Given the description of an element on the screen output the (x, y) to click on. 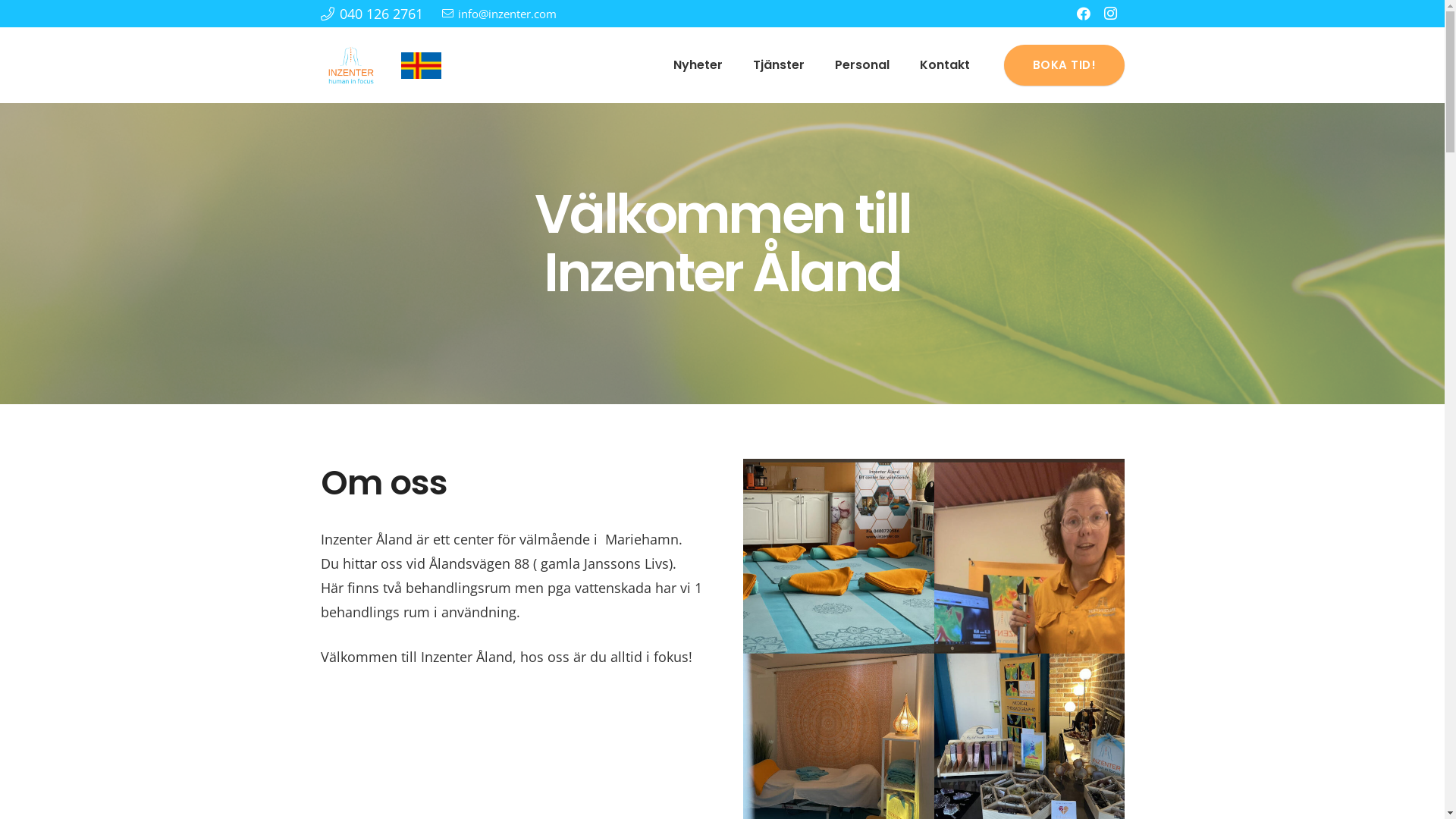
Facebook Element type: hover (1082, 13)
040 126 2761 Element type: text (371, 13)
BOKA TID! Element type: text (1063, 64)
info@inzenter.com Element type: text (499, 13)
Nyheter Element type: text (697, 65)
Personal Element type: text (861, 65)
Kontakt Element type: text (944, 65)
Instagram Element type: hover (1109, 13)
